Given the description of an element on the screen output the (x, y) to click on. 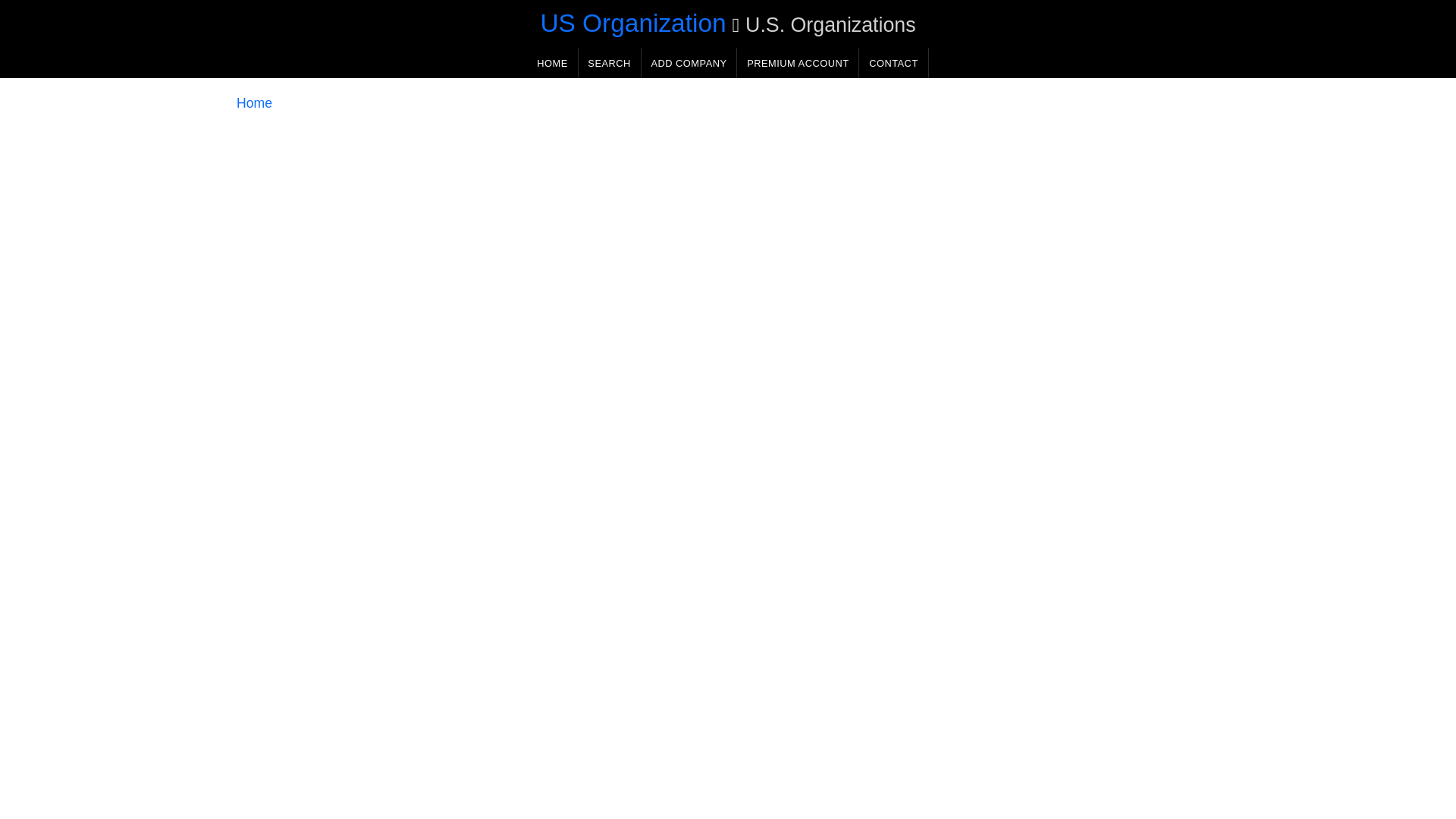
Add a new company (689, 62)
SEARCH (609, 62)
CONTACT (893, 62)
PREMIUM ACCOUNT (797, 62)
Home (253, 102)
Premium account (797, 62)
HOME (551, 62)
Search in this webseite. (609, 62)
ADD COMPANY (689, 62)
